Given the description of an element on the screen output the (x, y) to click on. 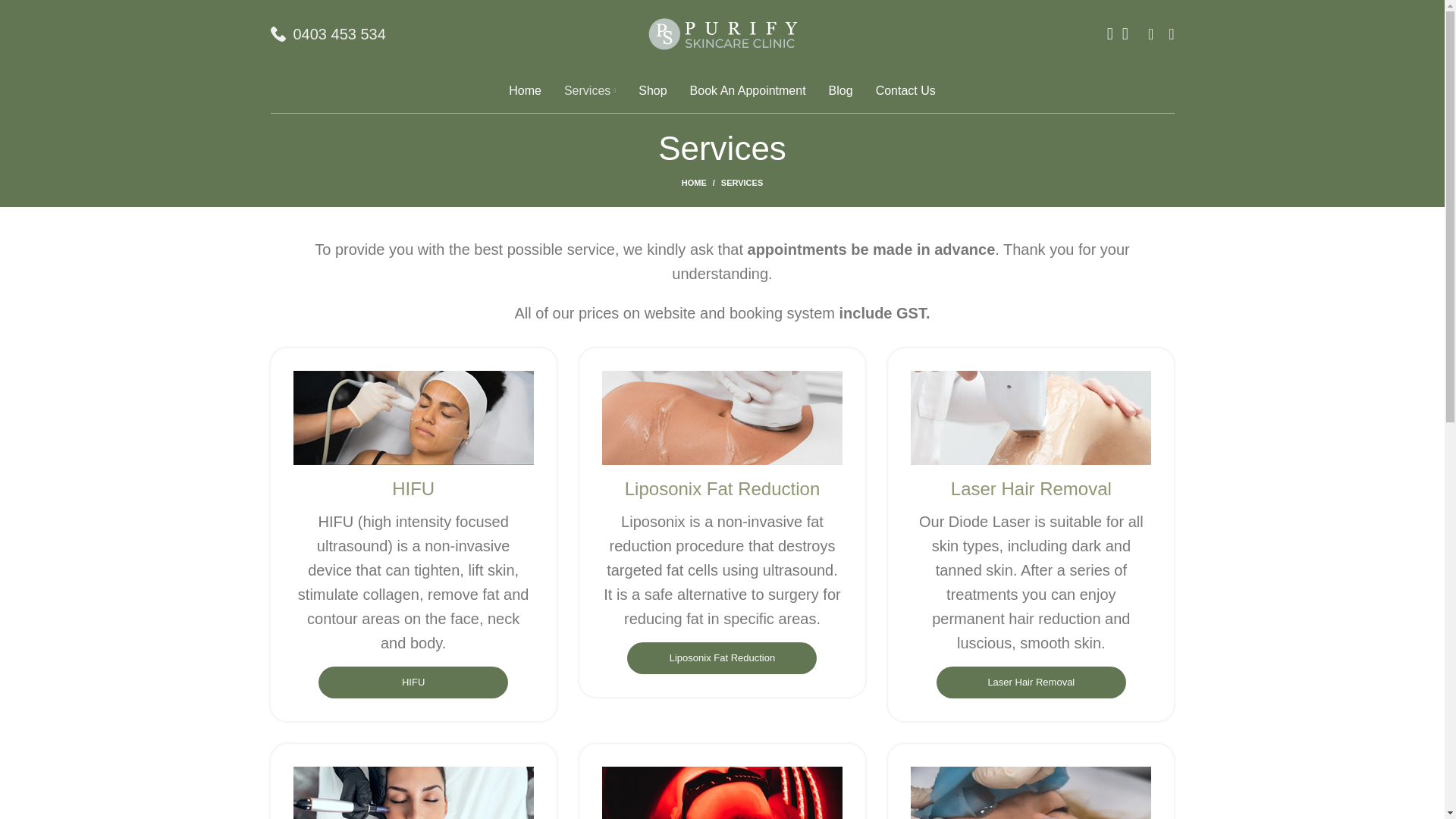
Liposonix Fat Reduction (721, 658)
Home (524, 91)
Book An Appointment (748, 91)
HOME (700, 182)
0403 453 534 (338, 33)
Services (589, 91)
HIFU (413, 682)
Laser Hair Removal (1030, 682)
Contact Us (906, 91)
Shop (652, 91)
